Given the description of an element on the screen output the (x, y) to click on. 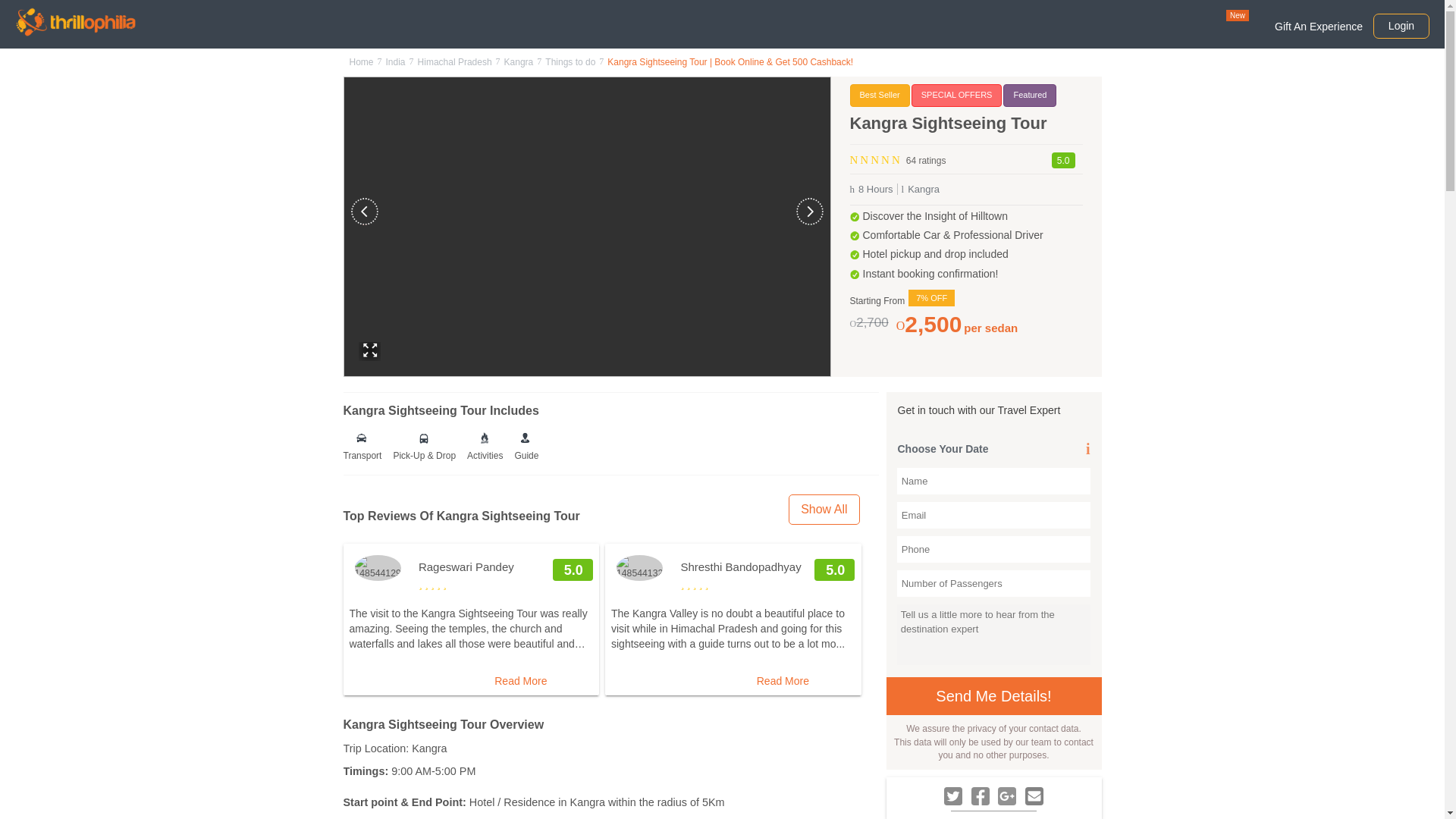
Kangra (518, 61)
Send me details! (992, 695)
Best Seller (878, 95)
Himachal Pradesh (454, 61)
Login (1401, 25)
Featured (1030, 95)
Home (360, 61)
SPECIAL OFFERS (957, 95)
Read More (520, 681)
64 ratings (924, 158)
